Given the description of an element on the screen output the (x, y) to click on. 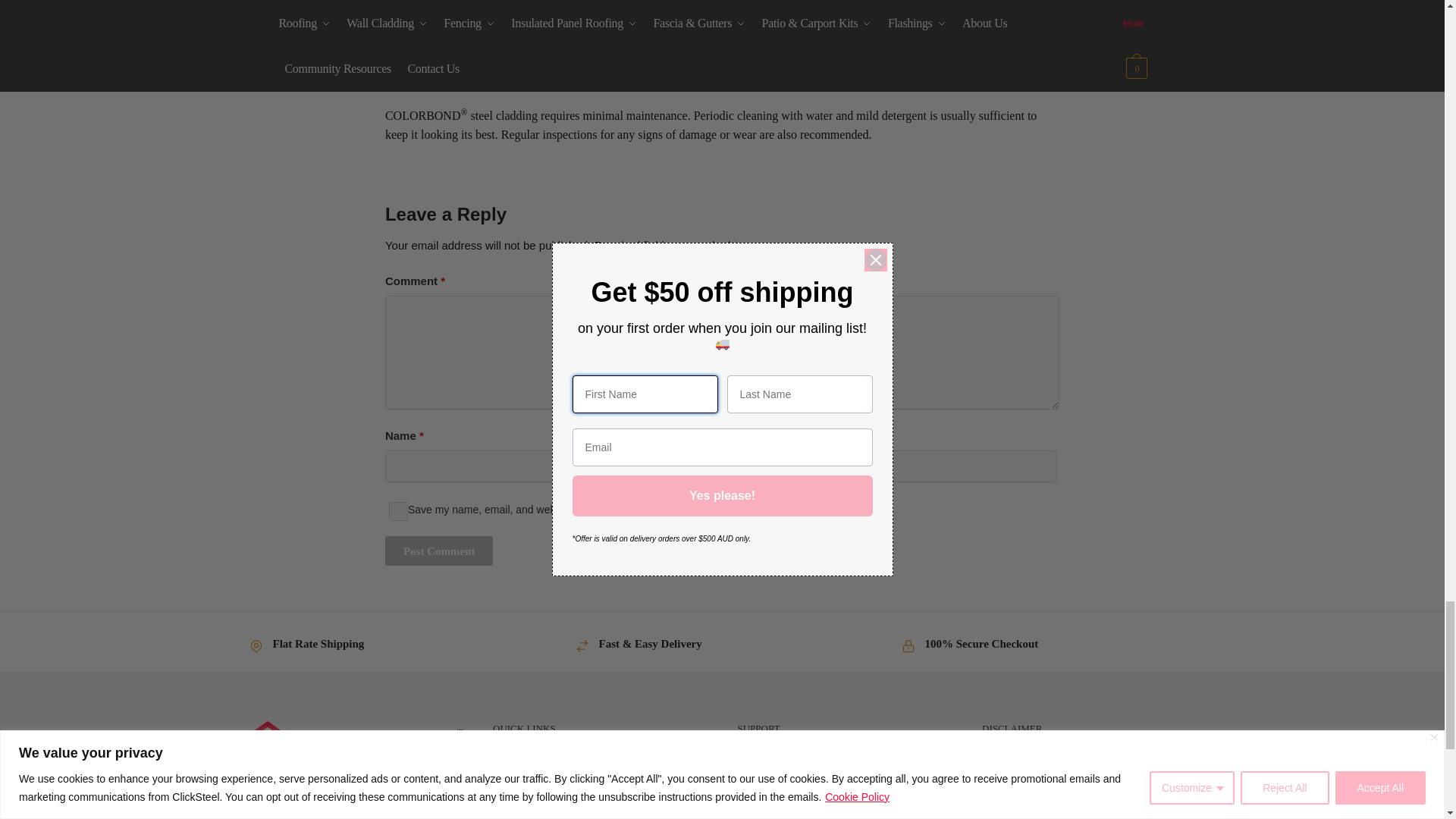
Post Comment (439, 550)
yes (398, 511)
